Given the description of an element on the screen output the (x, y) to click on. 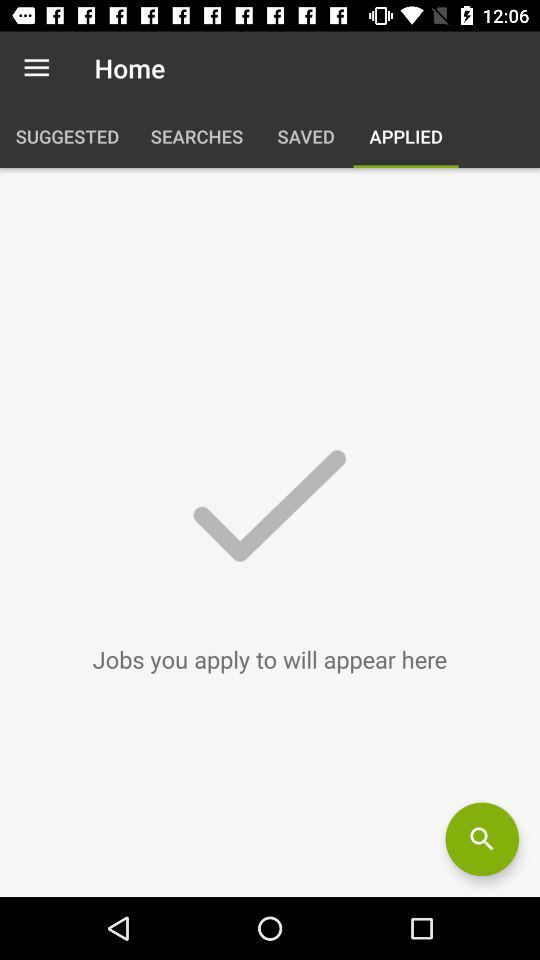
search jobs you already applied to (482, 839)
